Given the description of an element on the screen output the (x, y) to click on. 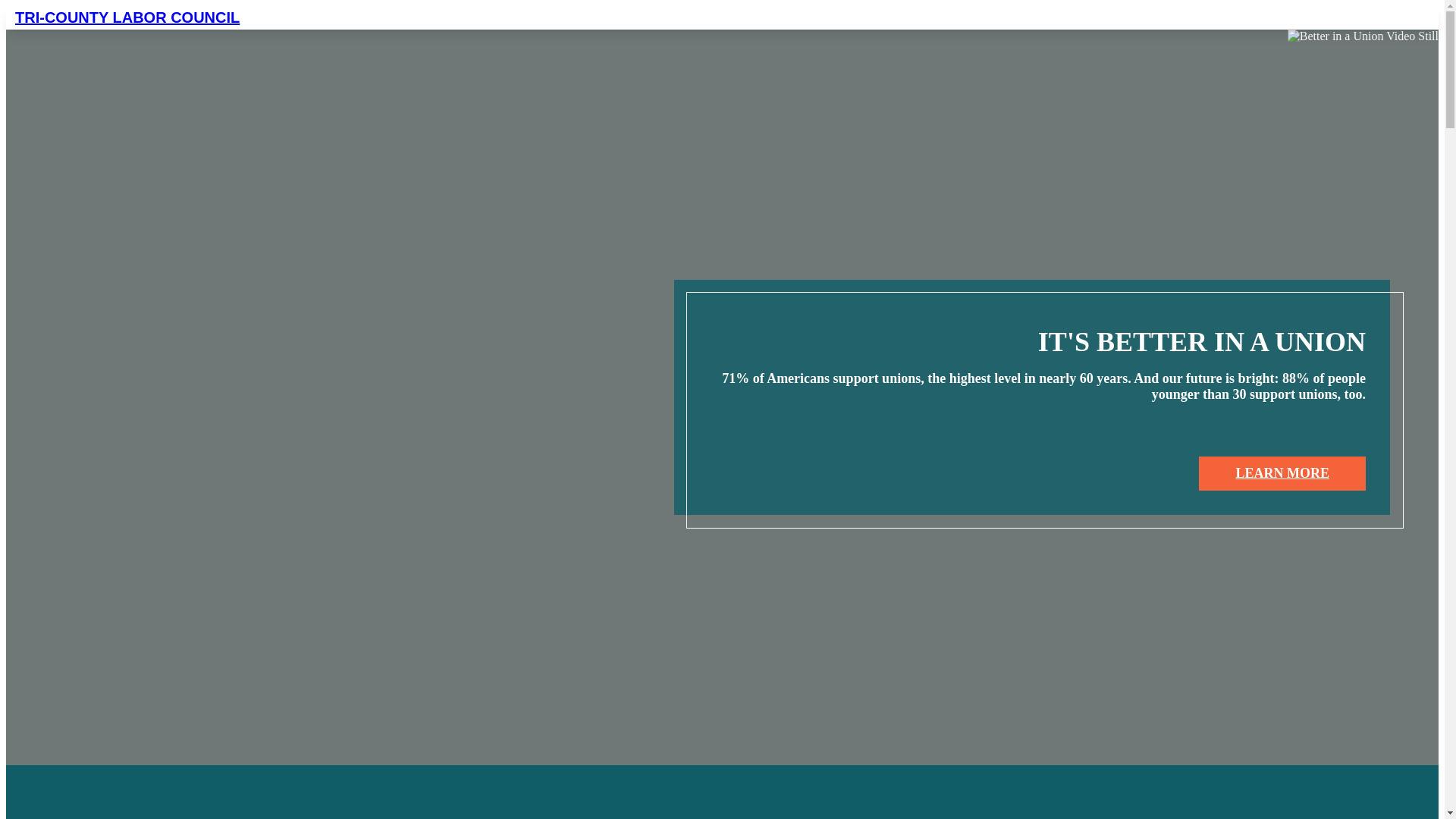
TRI-COUNTY LABOR COUNCIL (210, 17)
LEARN MORE (1281, 473)
